Given the description of an element on the screen output the (x, y) to click on. 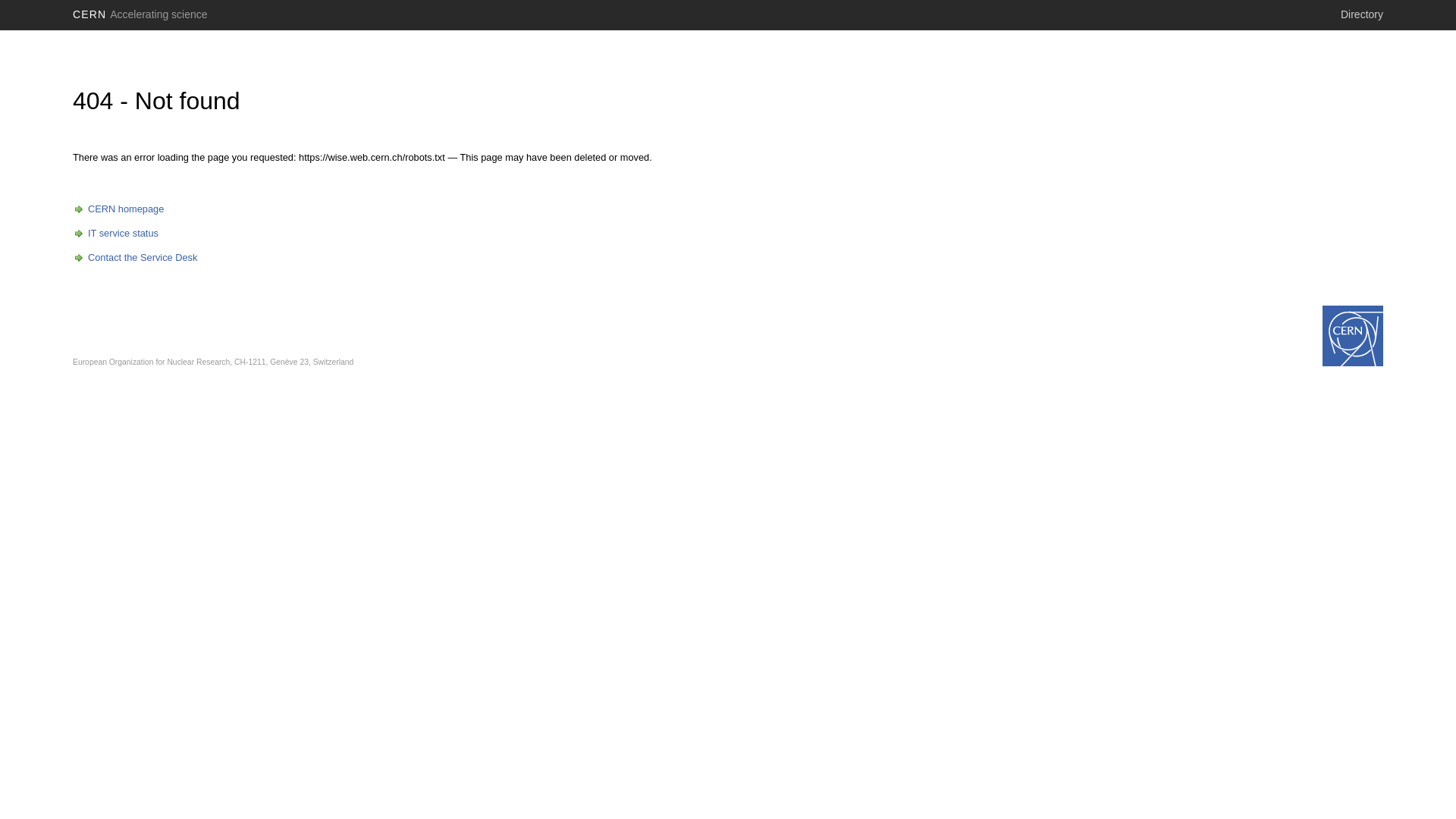
Contact the Service Desk Element type: text (134, 257)
CERN homepage Element type: text (117, 208)
CERN Accelerating science Element type: text (139, 14)
www.cern.ch Element type: hover (1352, 335)
IT service status Element type: text (115, 232)
Directory Element type: text (1361, 14)
